Given the description of an element on the screen output the (x, y) to click on. 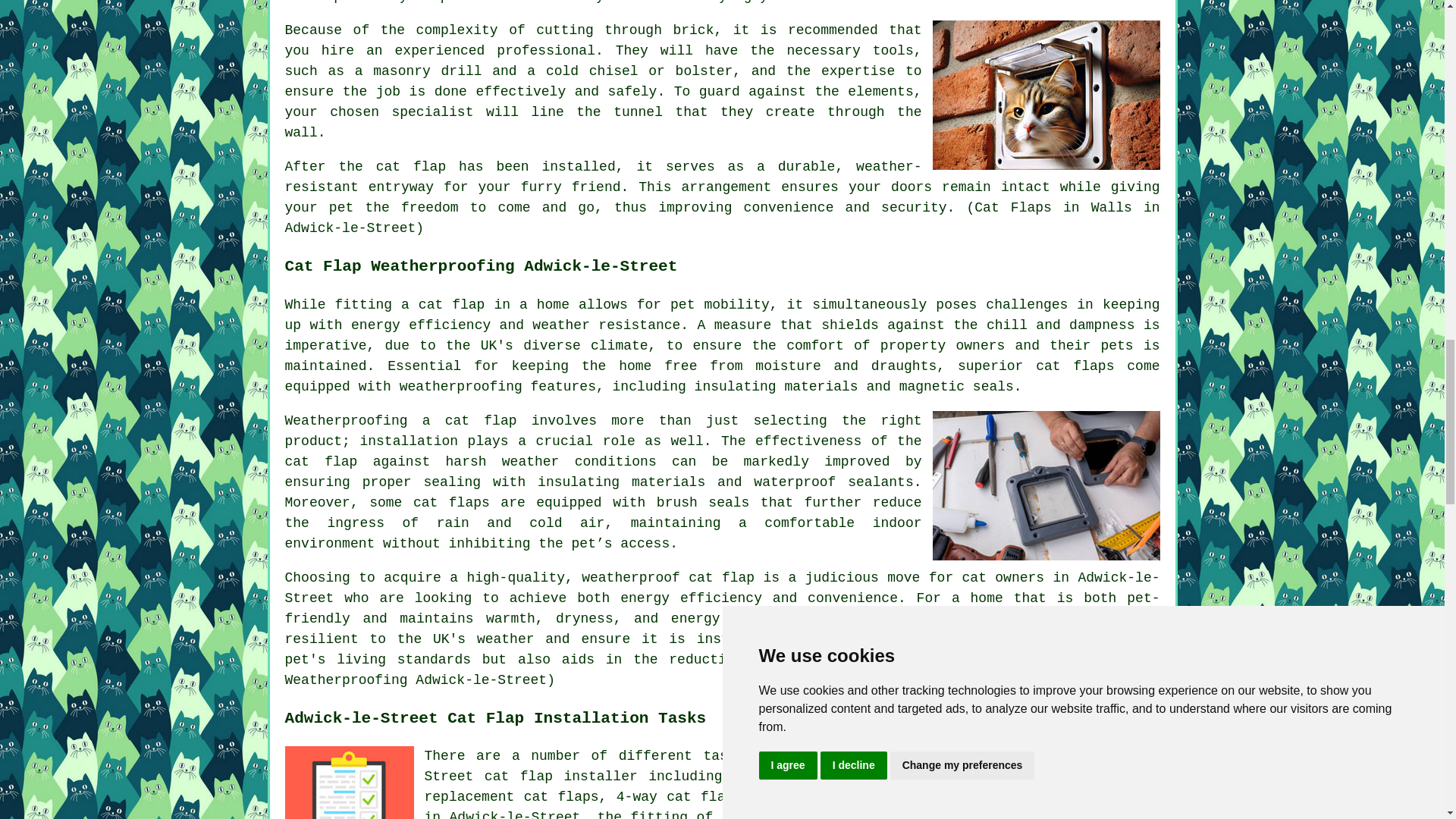
cat flap (480, 419)
Cat Flaps in Walls Adwick-le-Street (1046, 94)
Cat Flap Weatherproofing Adwick-le-Street (1046, 485)
a cat flap (442, 304)
doors (911, 186)
